Given the description of an element on the screen output the (x, y) to click on. 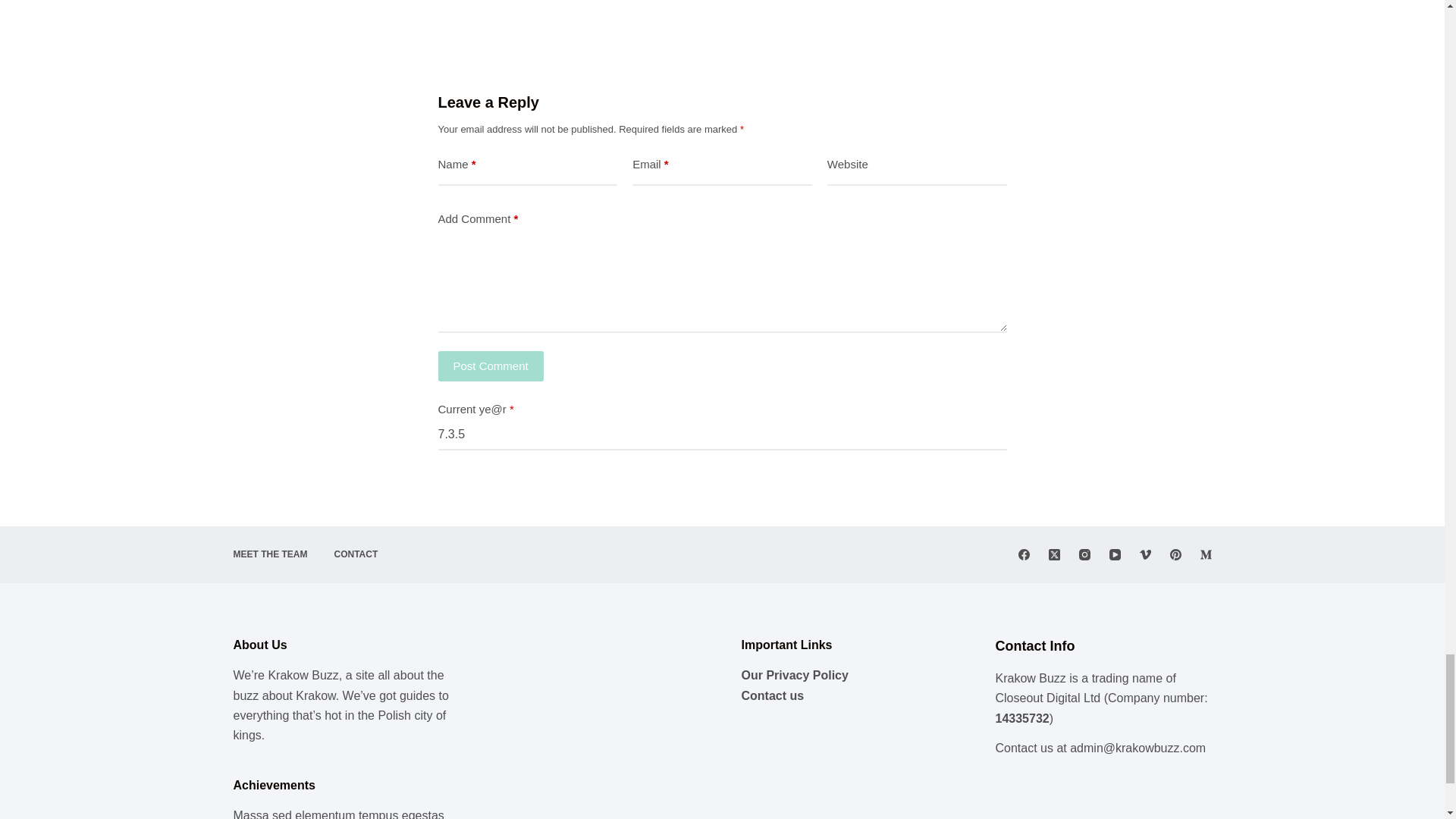
7.3.5 (722, 435)
